Given the description of an element on the screen output the (x, y) to click on. 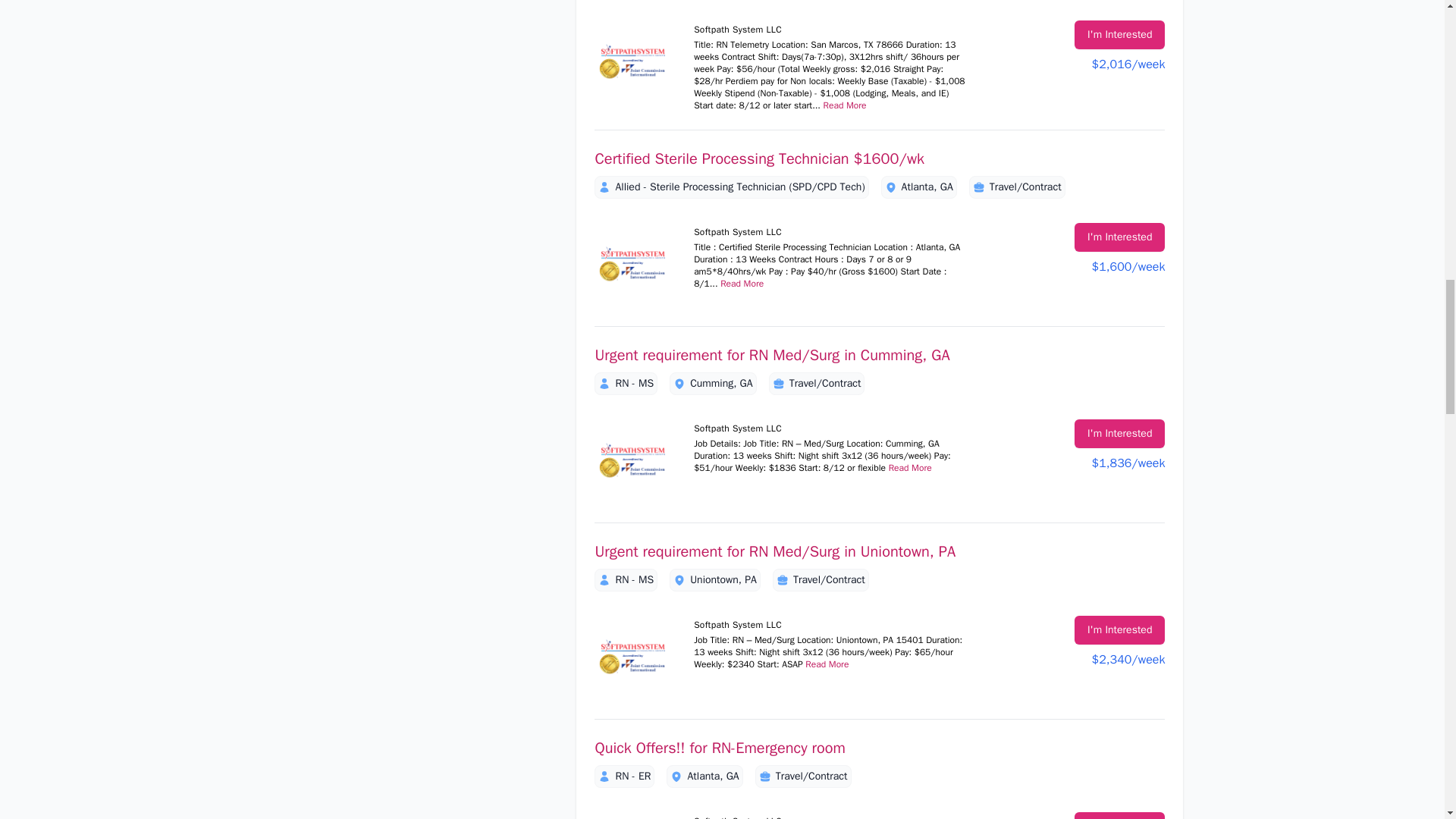
Softpath System LLC (631, 815)
